Given the description of an element on the screen output the (x, y) to click on. 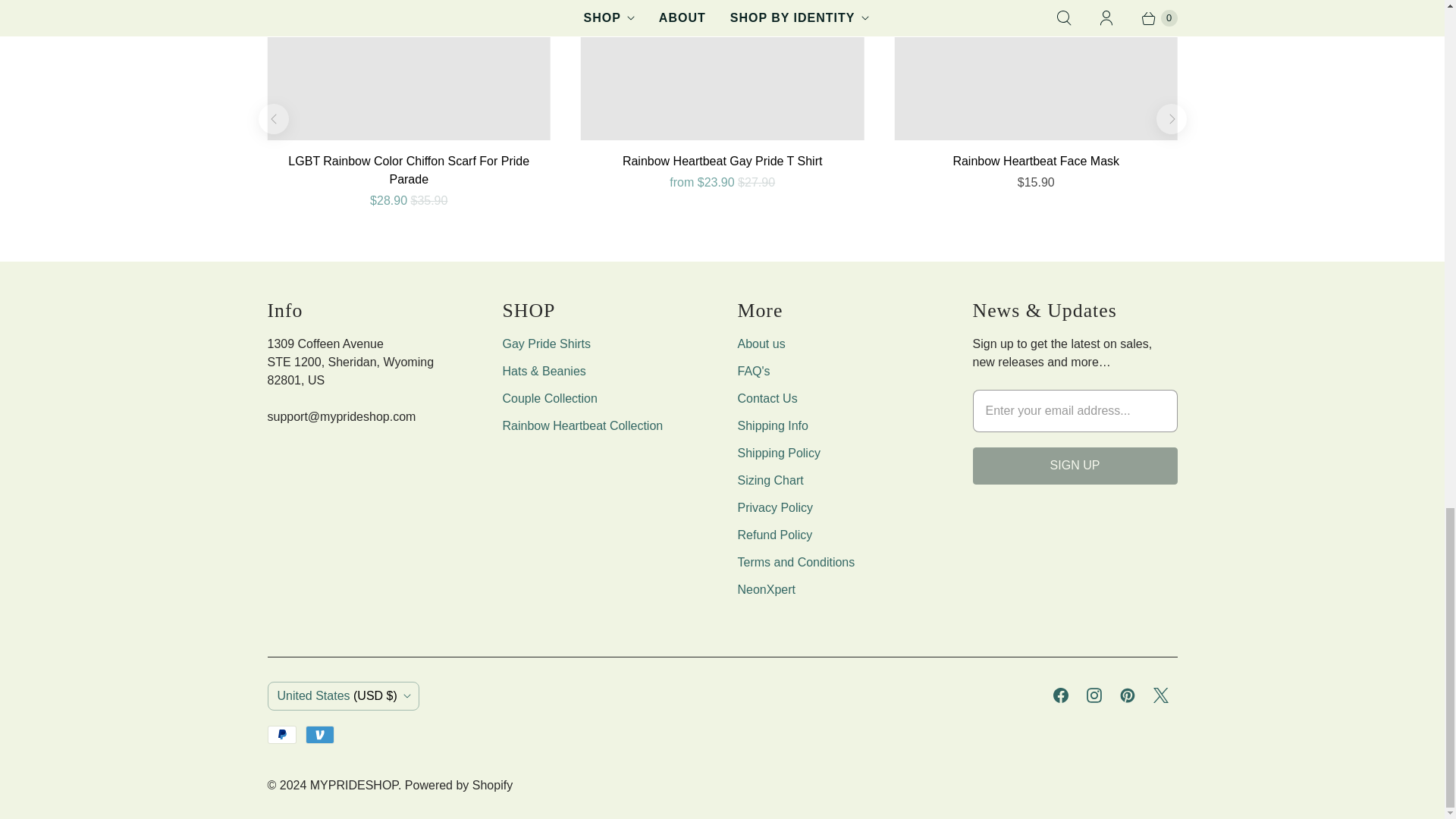
PayPal (280, 734)
Venmo (319, 734)
Sign Up (1074, 465)
